Given the description of an element on the screen output the (x, y) to click on. 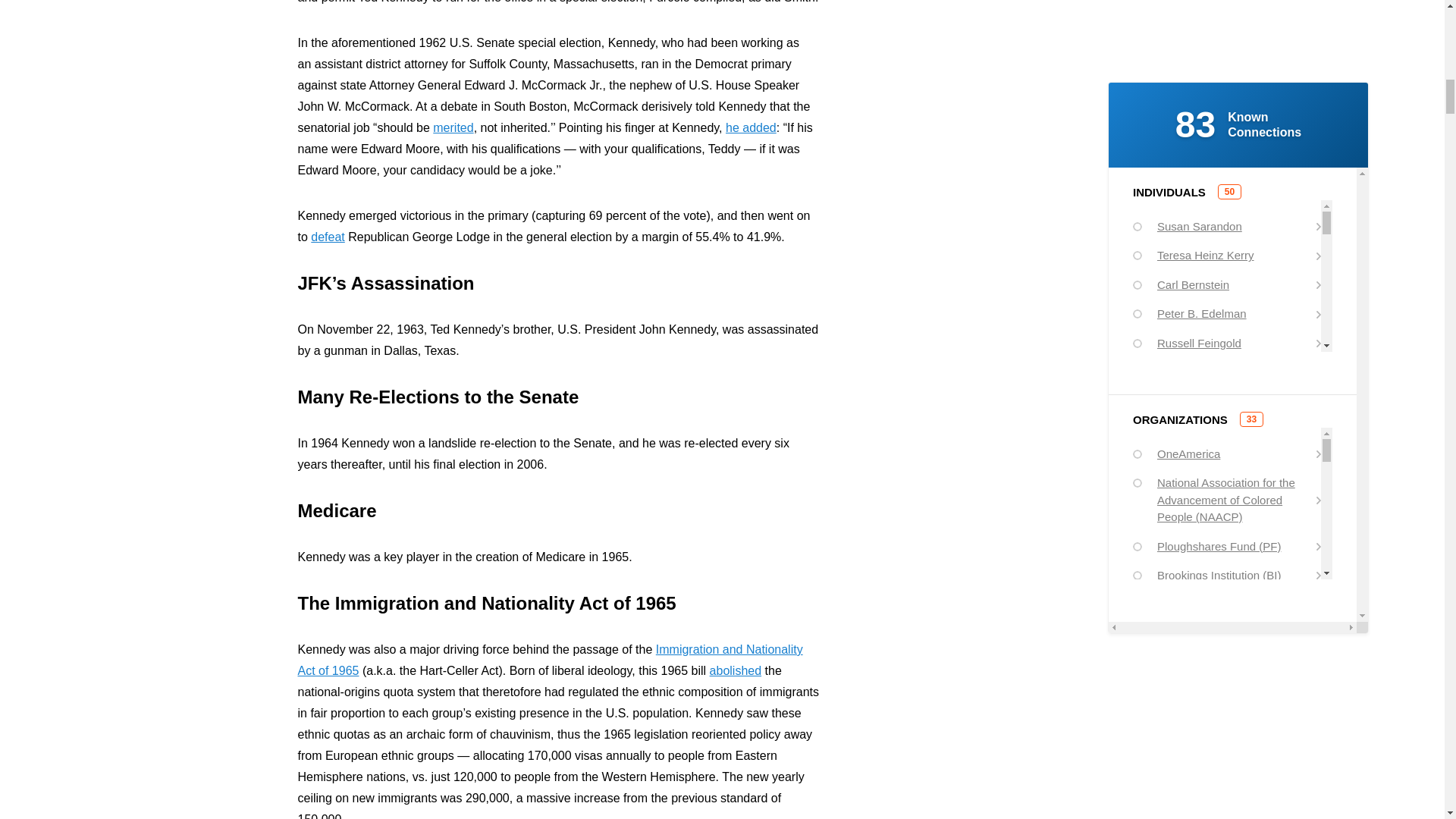
Immigration and Nationality Act of 1965 (549, 659)
merited (452, 127)
he added (750, 127)
defeat (327, 236)
abolished (735, 670)
